Given the description of an element on the screen output the (x, y) to click on. 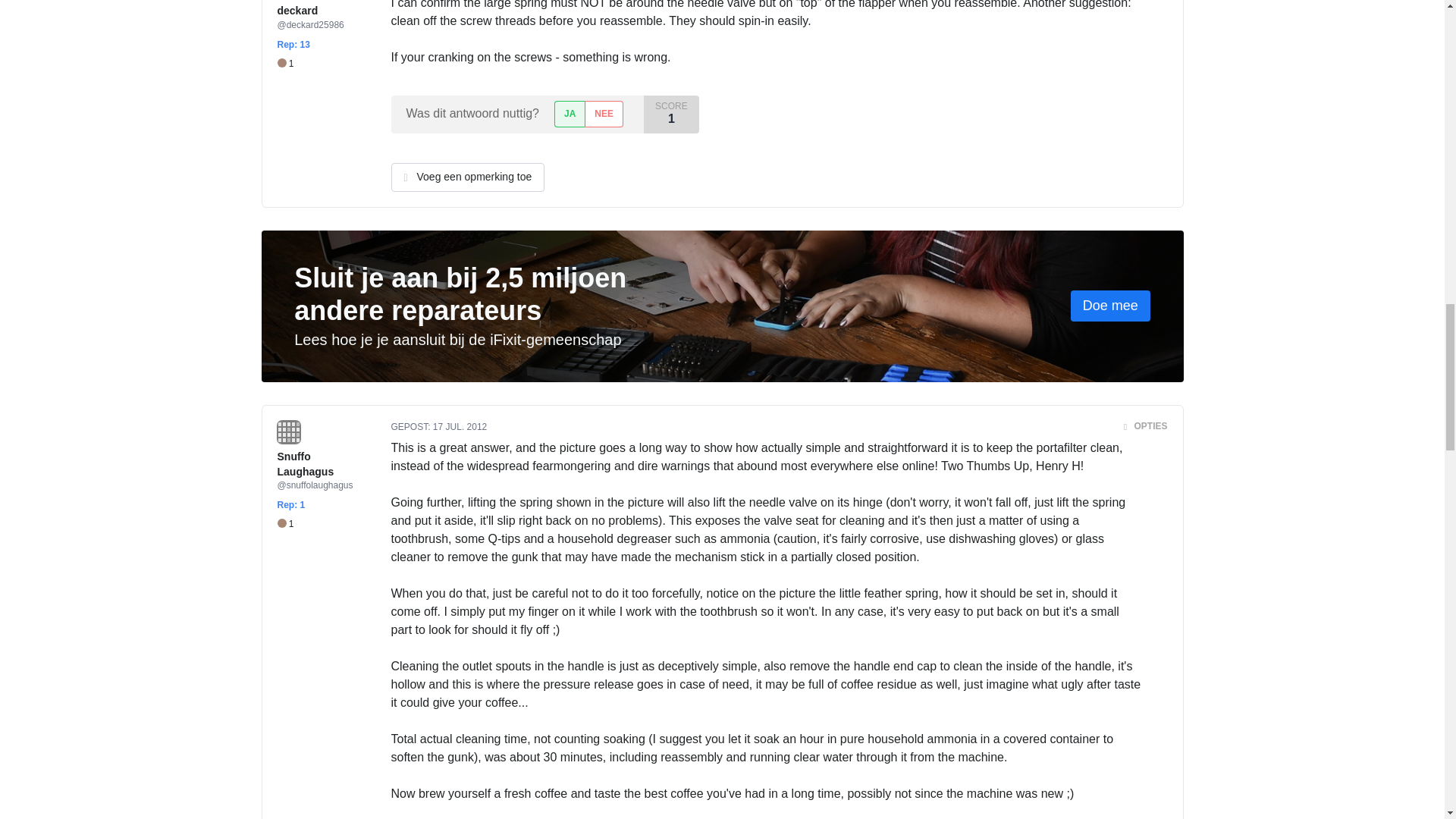
1 Brons badges (286, 523)
Tue, 17 Jul 2012 17:32:53 -0700 (459, 426)
1 Brons badges (286, 63)
